Given the description of an element on the screen output the (x, y) to click on. 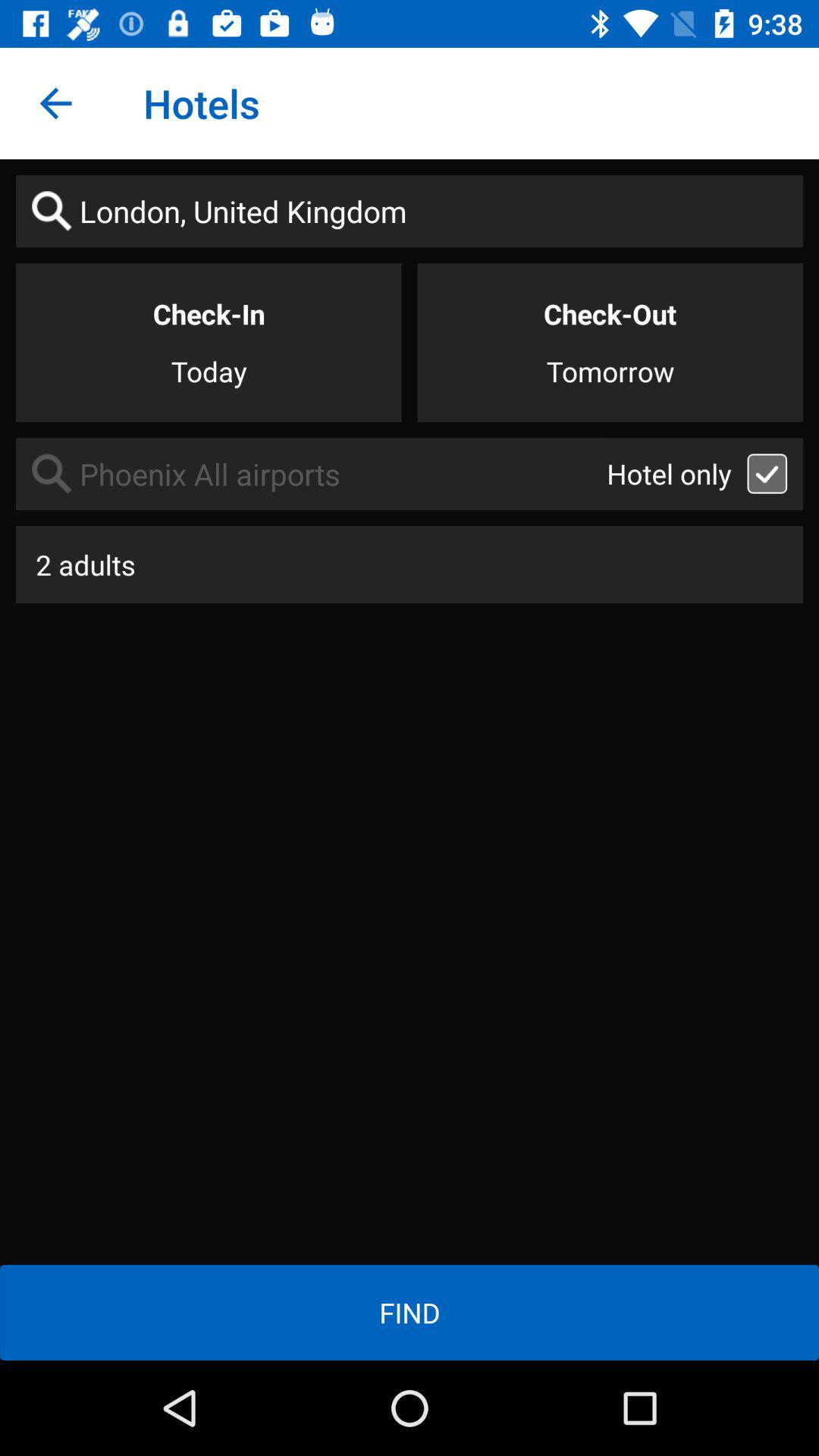
choose item below the today icon (310, 473)
